Given the description of an element on the screen output the (x, y) to click on. 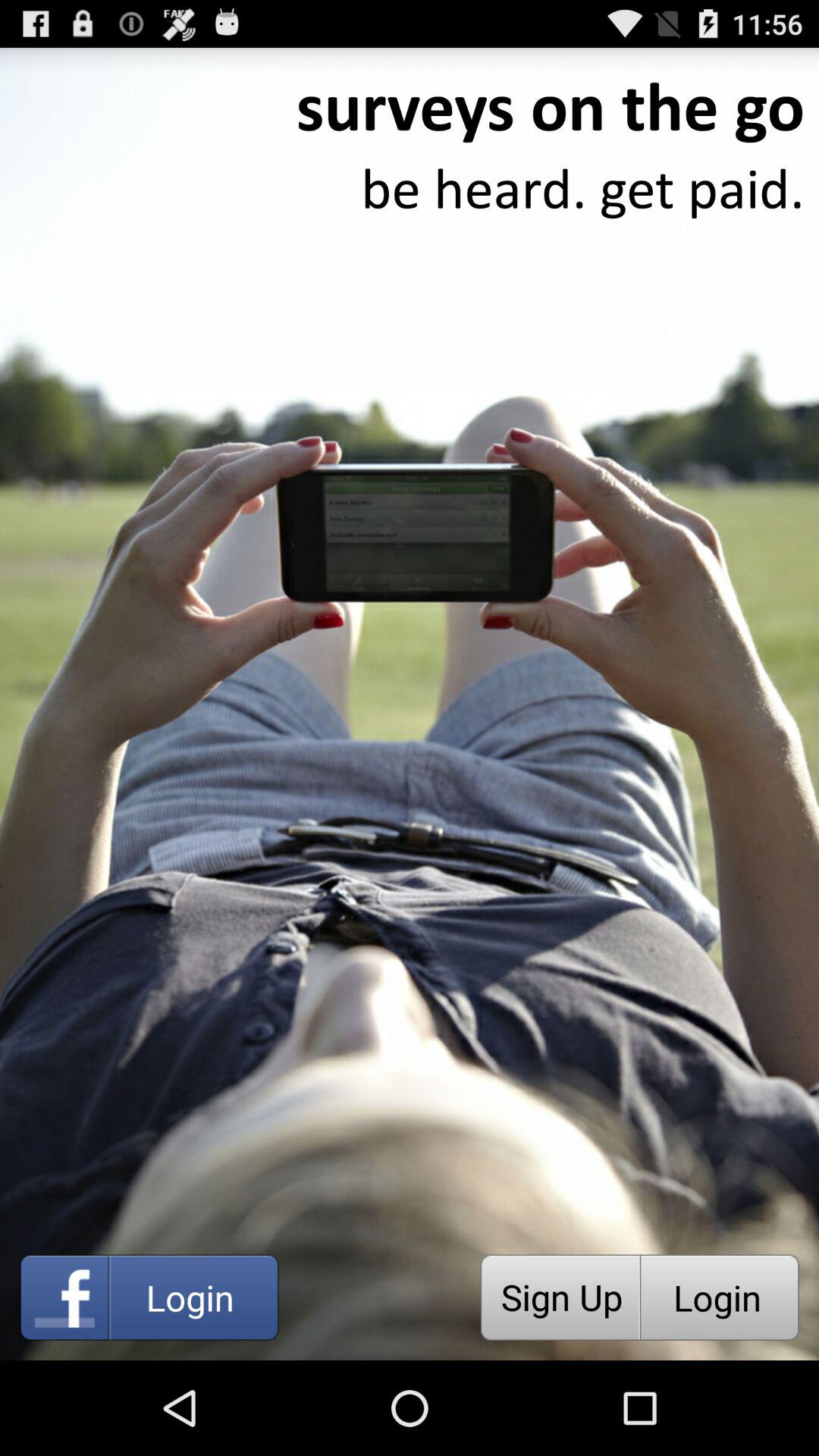
click app below be heard get (559, 1297)
